Given the description of an element on the screen output the (x, y) to click on. 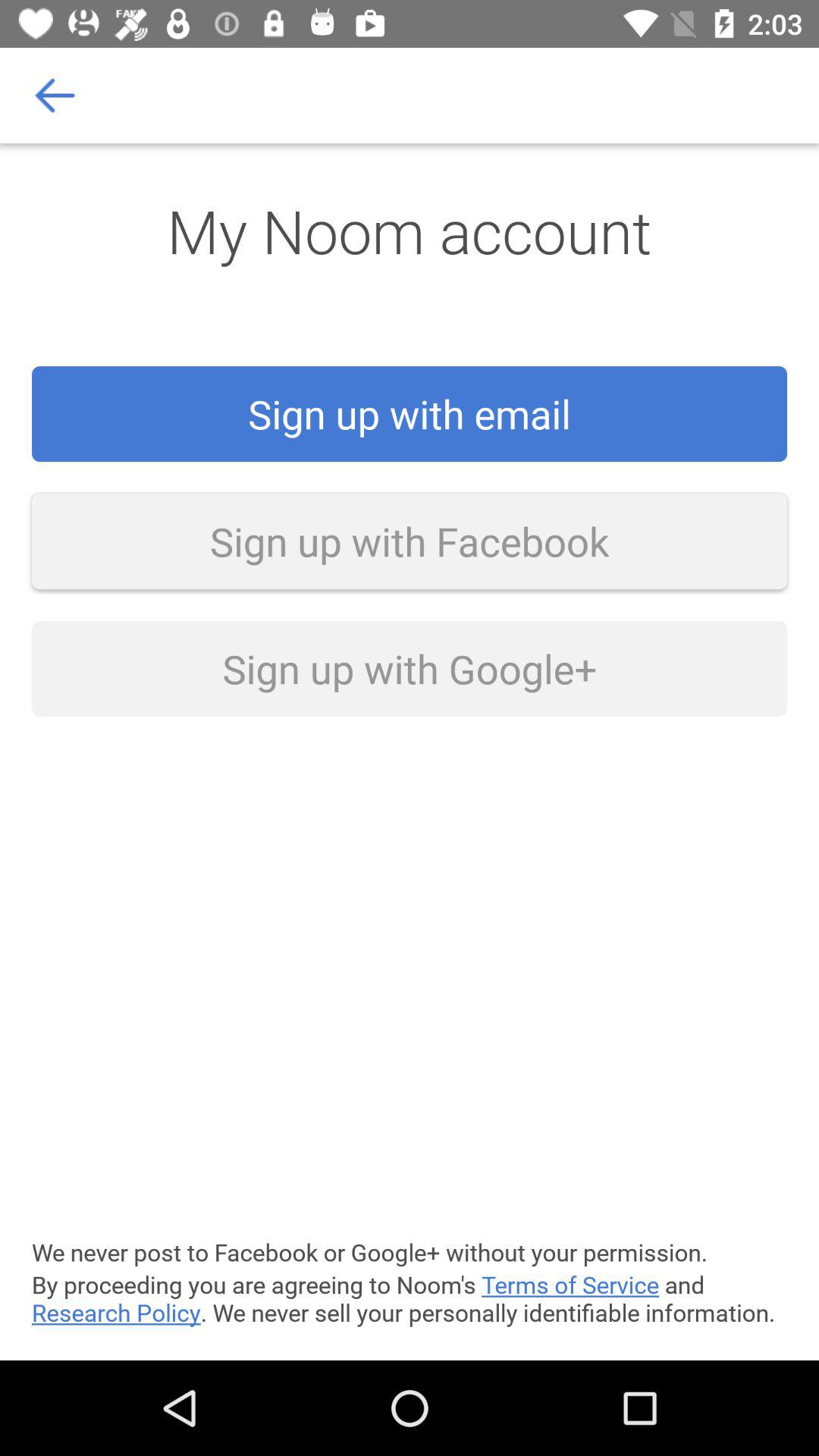
jump until by proceeding you item (409, 1298)
